Given the description of an element on the screen output the (x, y) to click on. 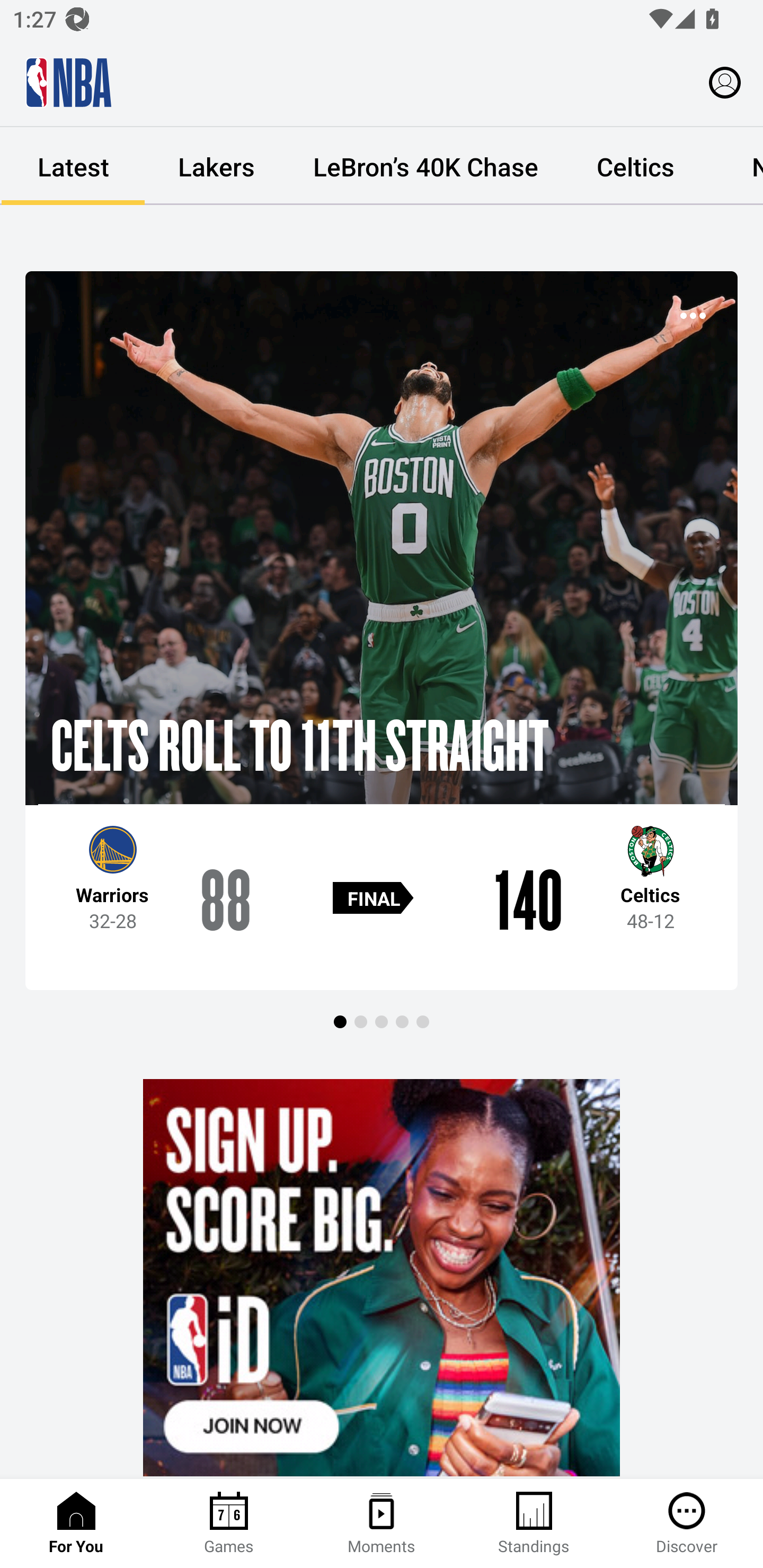
Profile (724, 81)
Lakers (215, 166)
LeBron’s 40K Chase (425, 166)
Celtics (634, 166)
Games (228, 1523)
Moments (381, 1523)
Standings (533, 1523)
Discover (686, 1523)
